Given the description of an element on the screen output the (x, y) to click on. 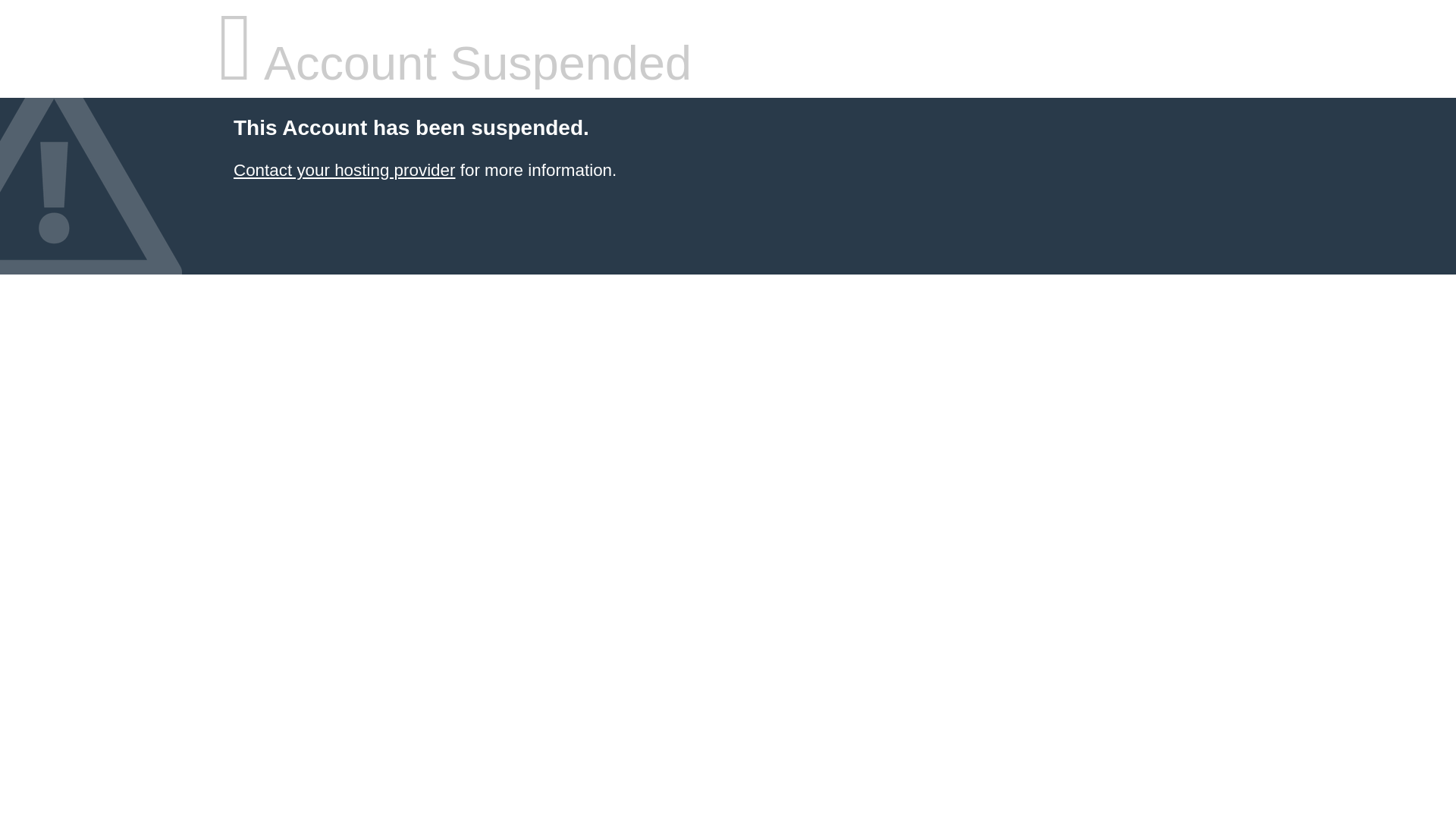
Contact your hosting provider (343, 169)
